Given the description of an element on the screen output the (x, y) to click on. 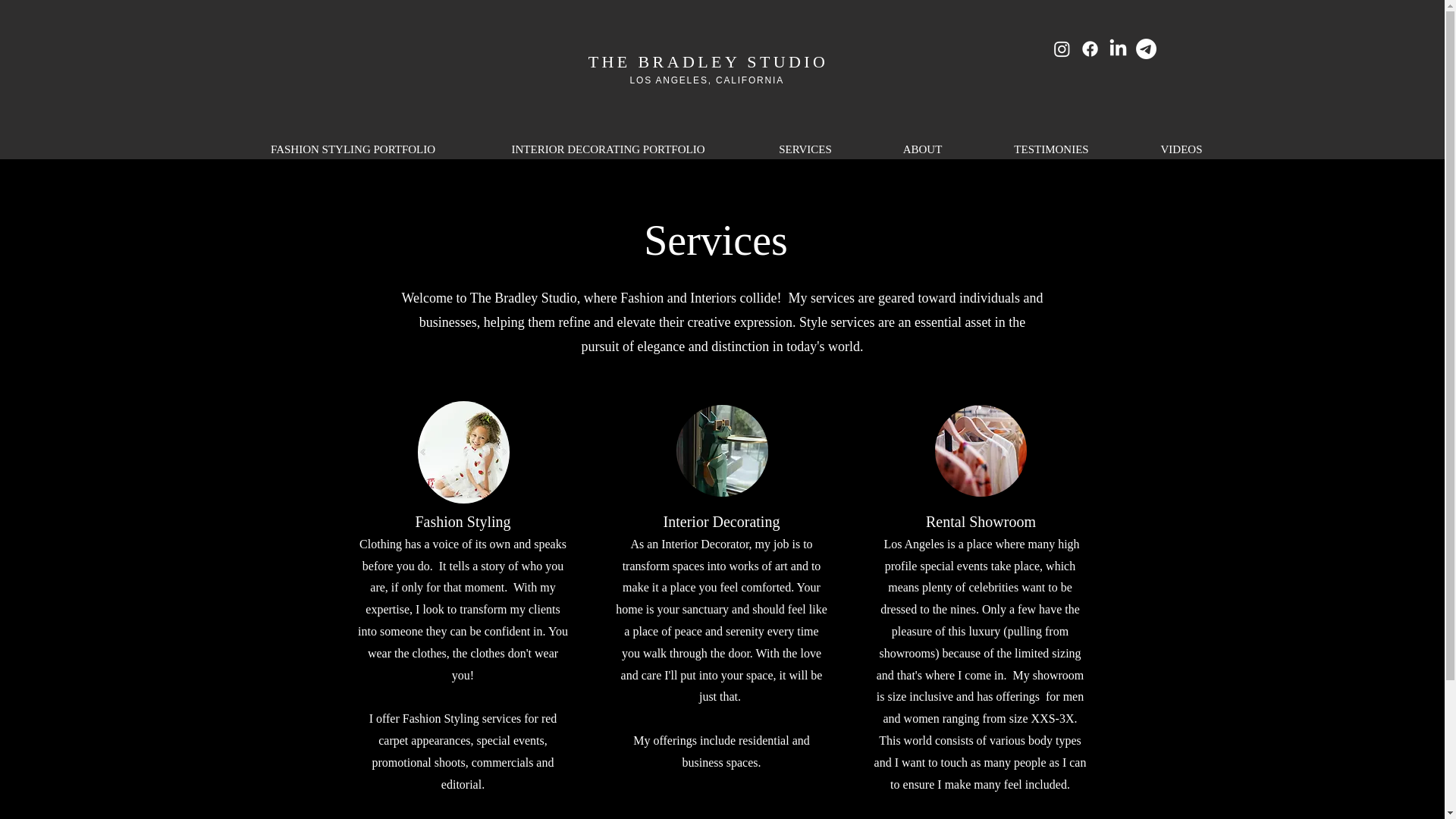
FASHION STYLING PORTFOLIO (352, 149)
ABOUT (922, 149)
VIDEOS (1182, 149)
TESTIMONIES (1051, 149)
SERVICES (804, 149)
INTERIOR DECORATING PORTFOLIO (608, 149)
